Given the description of an element on the screen output the (x, y) to click on. 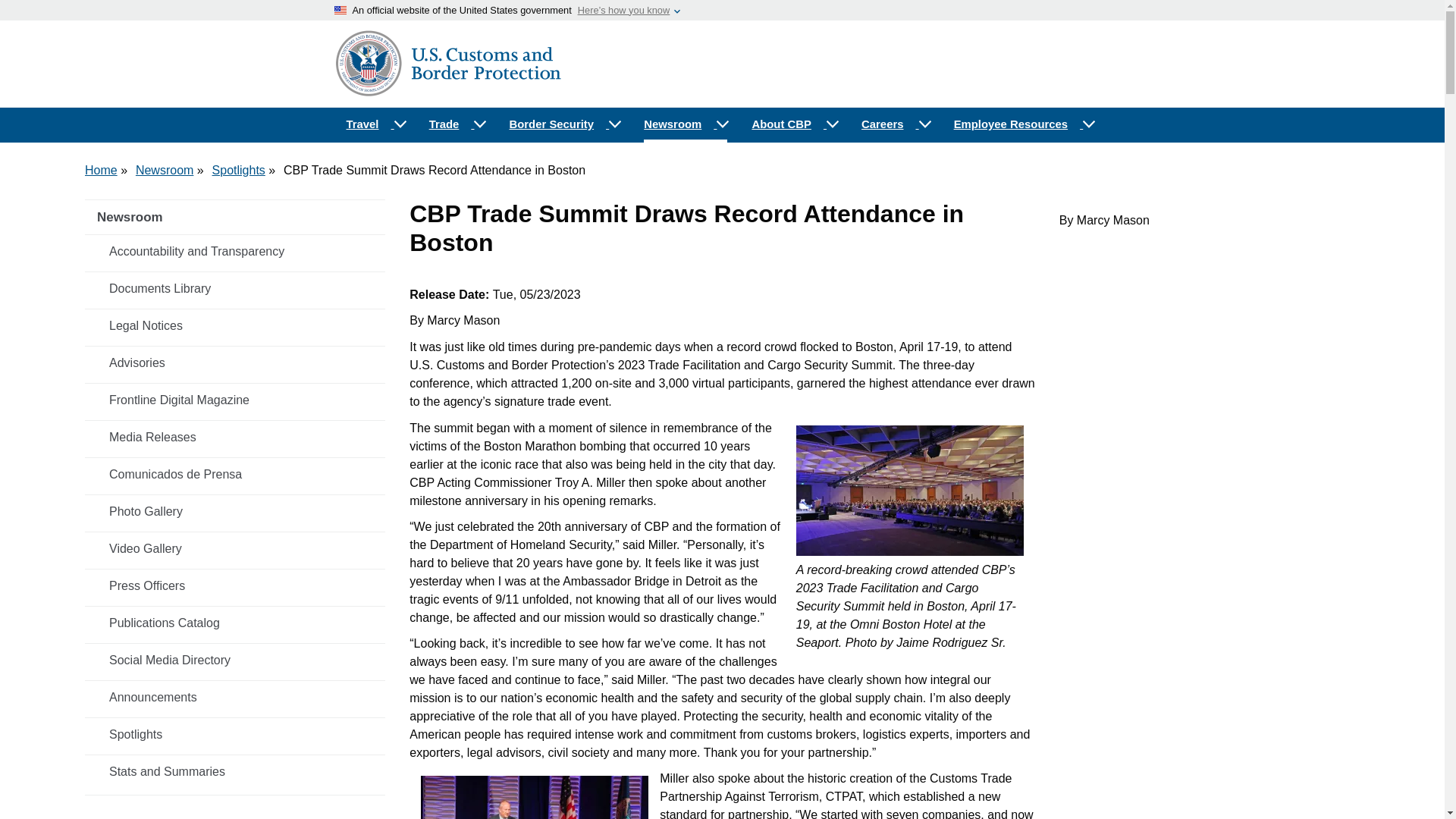
Accountability and Transparency (234, 251)
Announcements (234, 697)
Travel (374, 124)
Publications Catalog (234, 622)
Documents Library (234, 288)
Legal Notices (234, 326)
Home (100, 169)
Photo Gallery (234, 511)
